Given the description of an element on the screen output the (x, y) to click on. 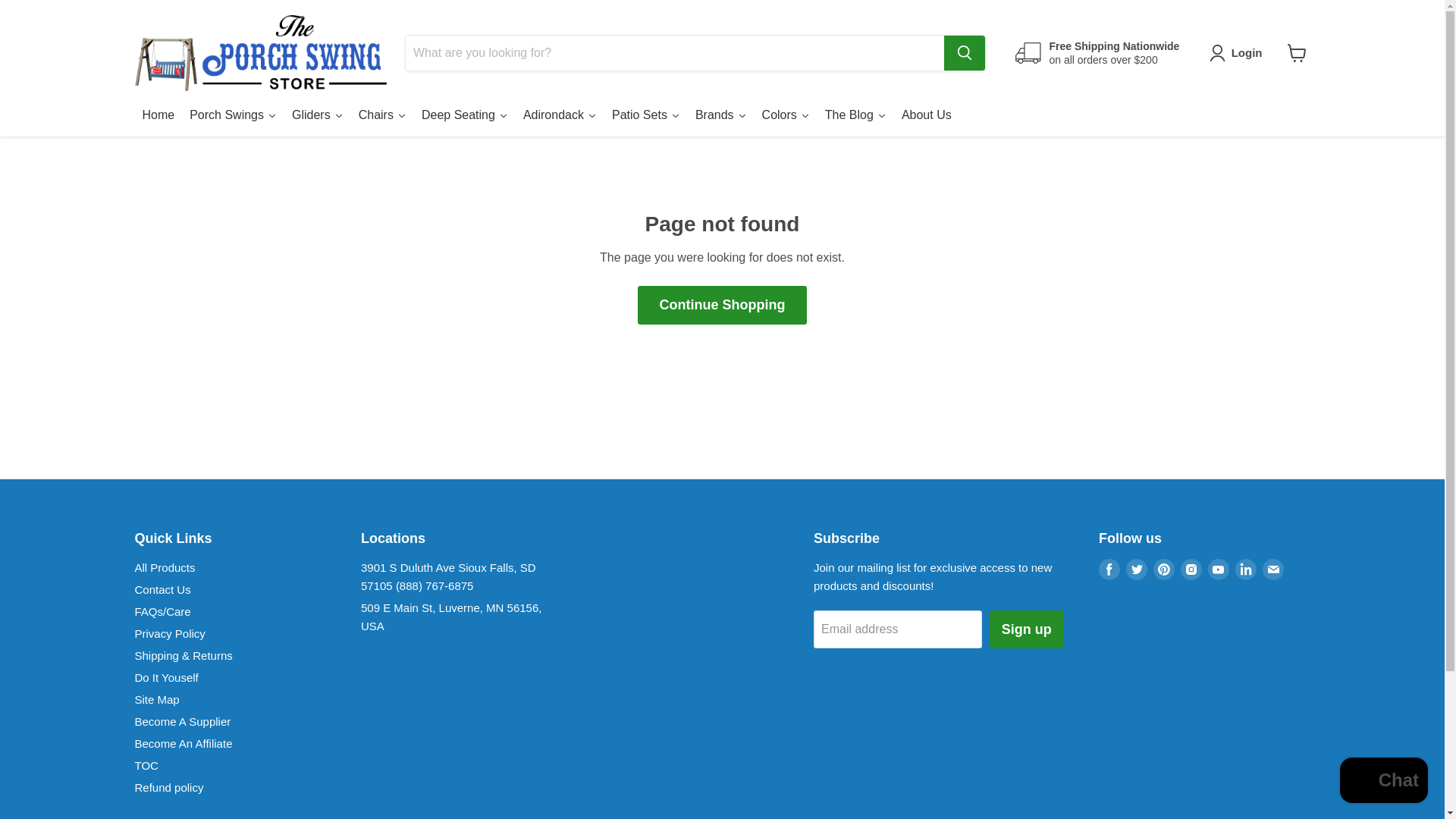
Deep Seating (464, 117)
Porch Swings (232, 117)
Brands (720, 117)
Continue Shopping (722, 304)
Home (159, 117)
Privacy Policy (170, 633)
Brands (720, 117)
About Us (926, 117)
Chairs (381, 117)
Gliders (316, 117)
